Given the description of an element on the screen output the (x, y) to click on. 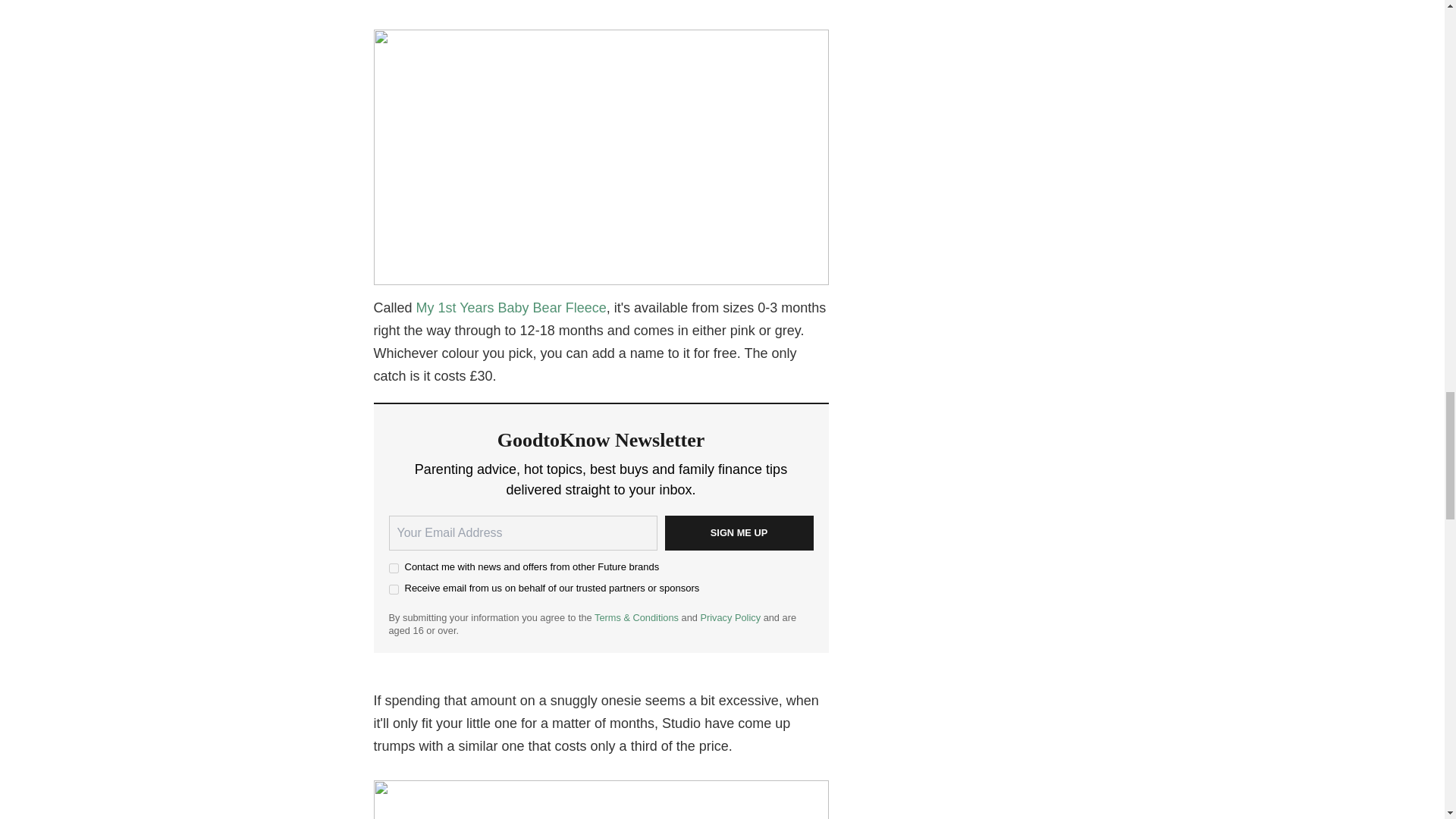
on (392, 568)
Sign me up (737, 532)
on (392, 589)
